Given the description of an element on the screen output the (x, y) to click on. 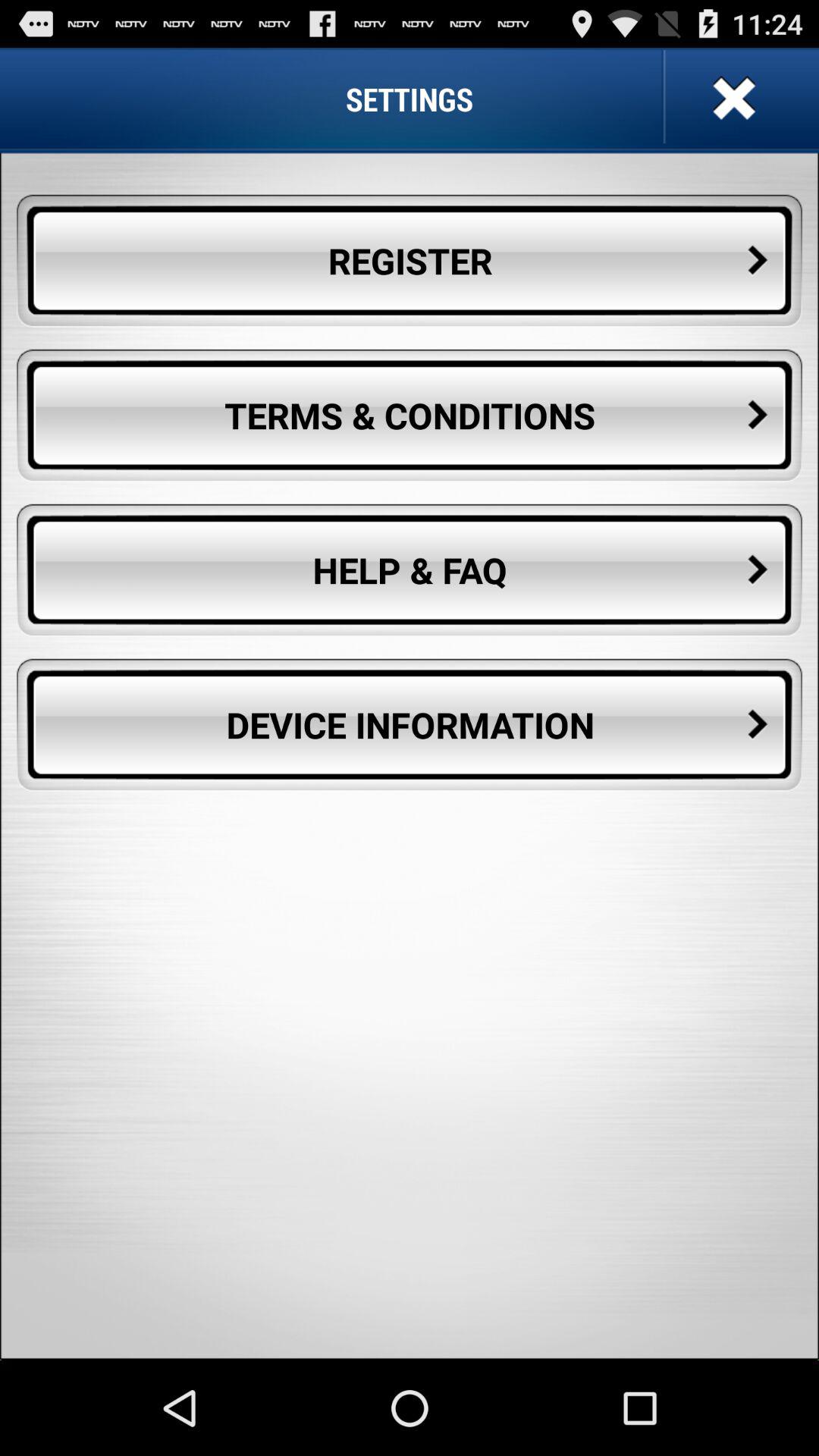
launch the button below terms & conditions icon (409, 570)
